Given the description of an element on the screen output the (x, y) to click on. 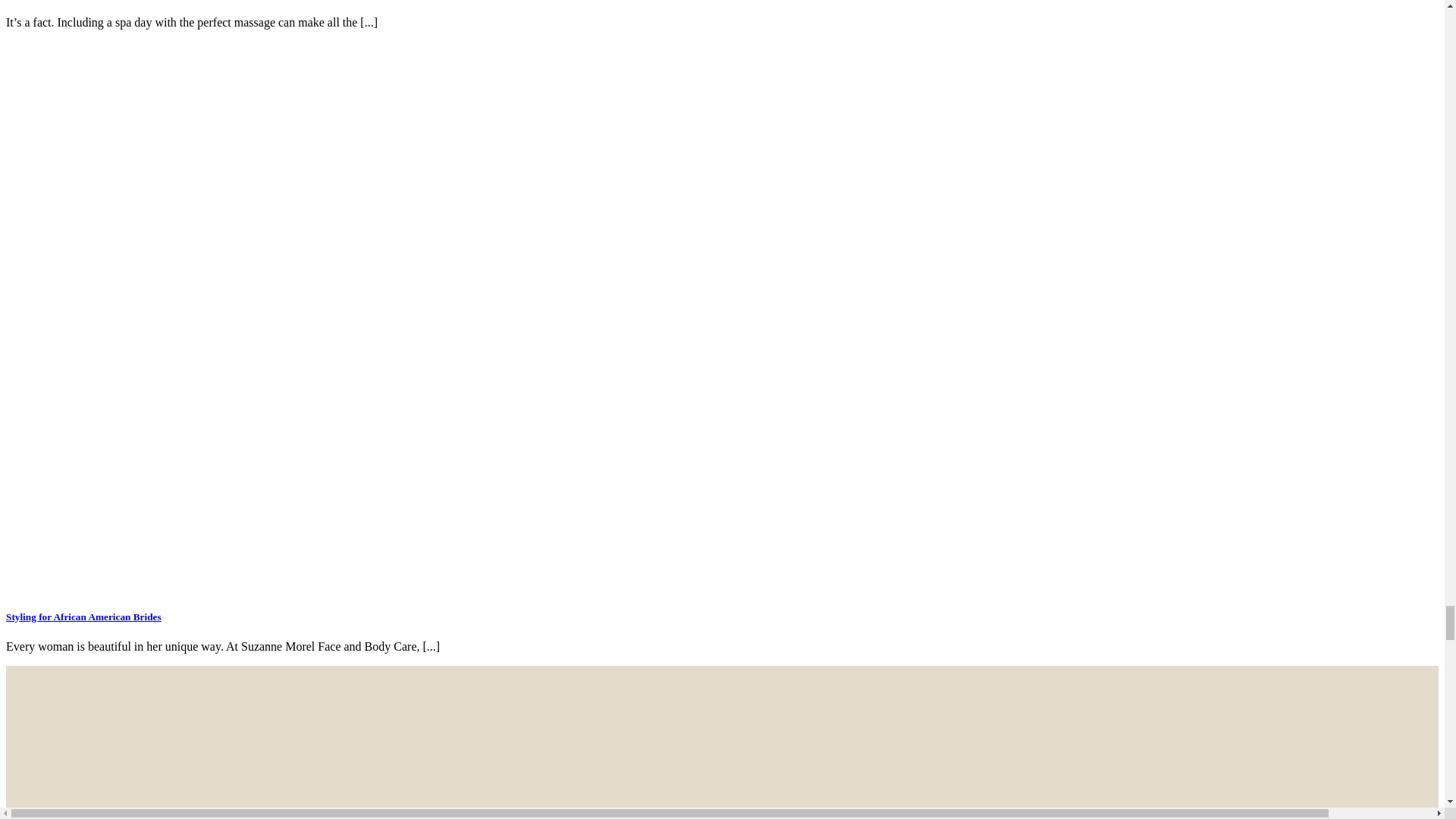
Styling for African American Brides (83, 616)
